Given the description of an element on the screen output the (x, y) to click on. 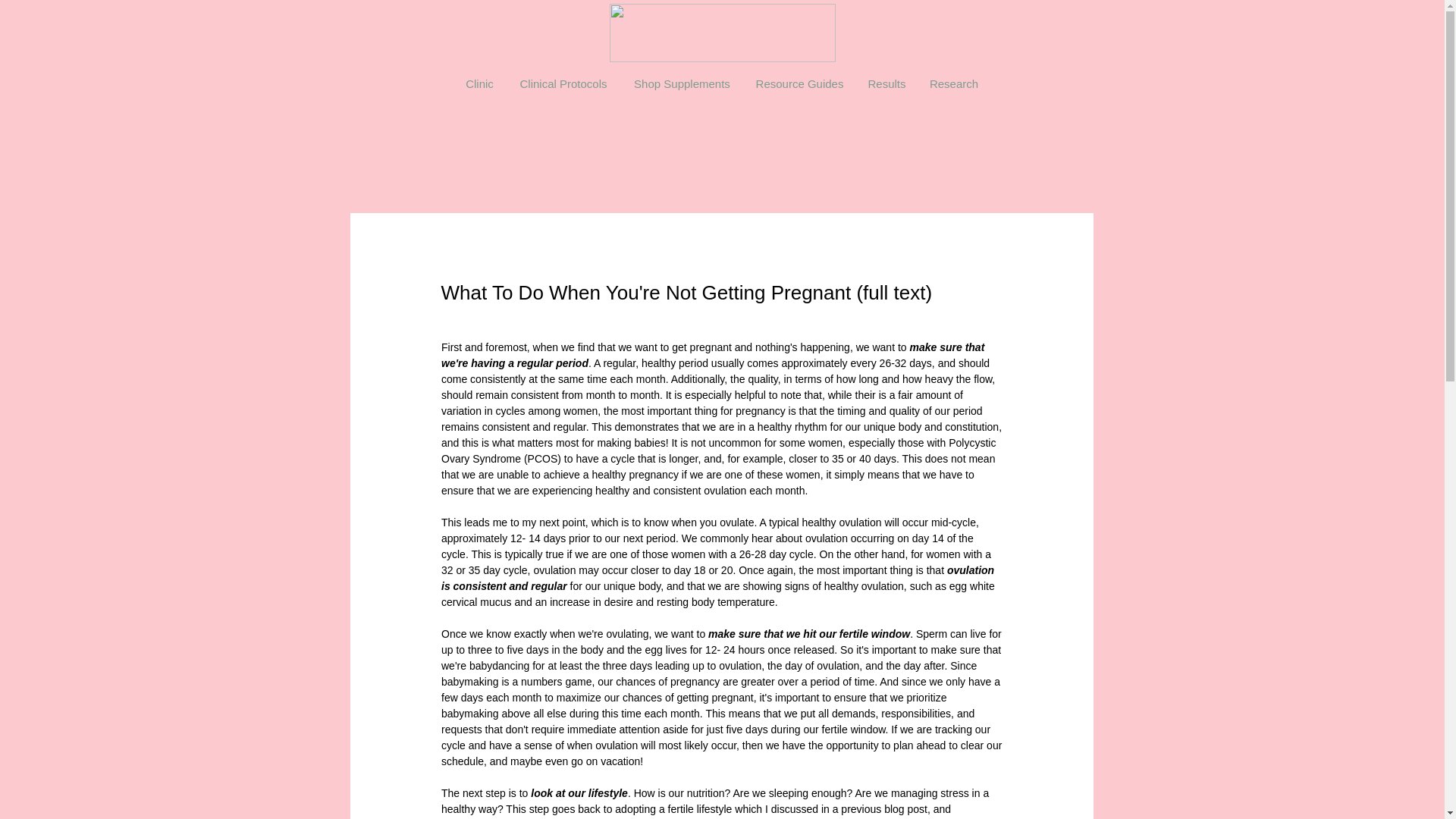
Clinical Protocols (563, 84)
Shop Supplements (681, 84)
Results (886, 84)
Resource Guides (799, 84)
Clinic (479, 84)
Research (953, 84)
